Given the description of an element on the screen output the (x, y) to click on. 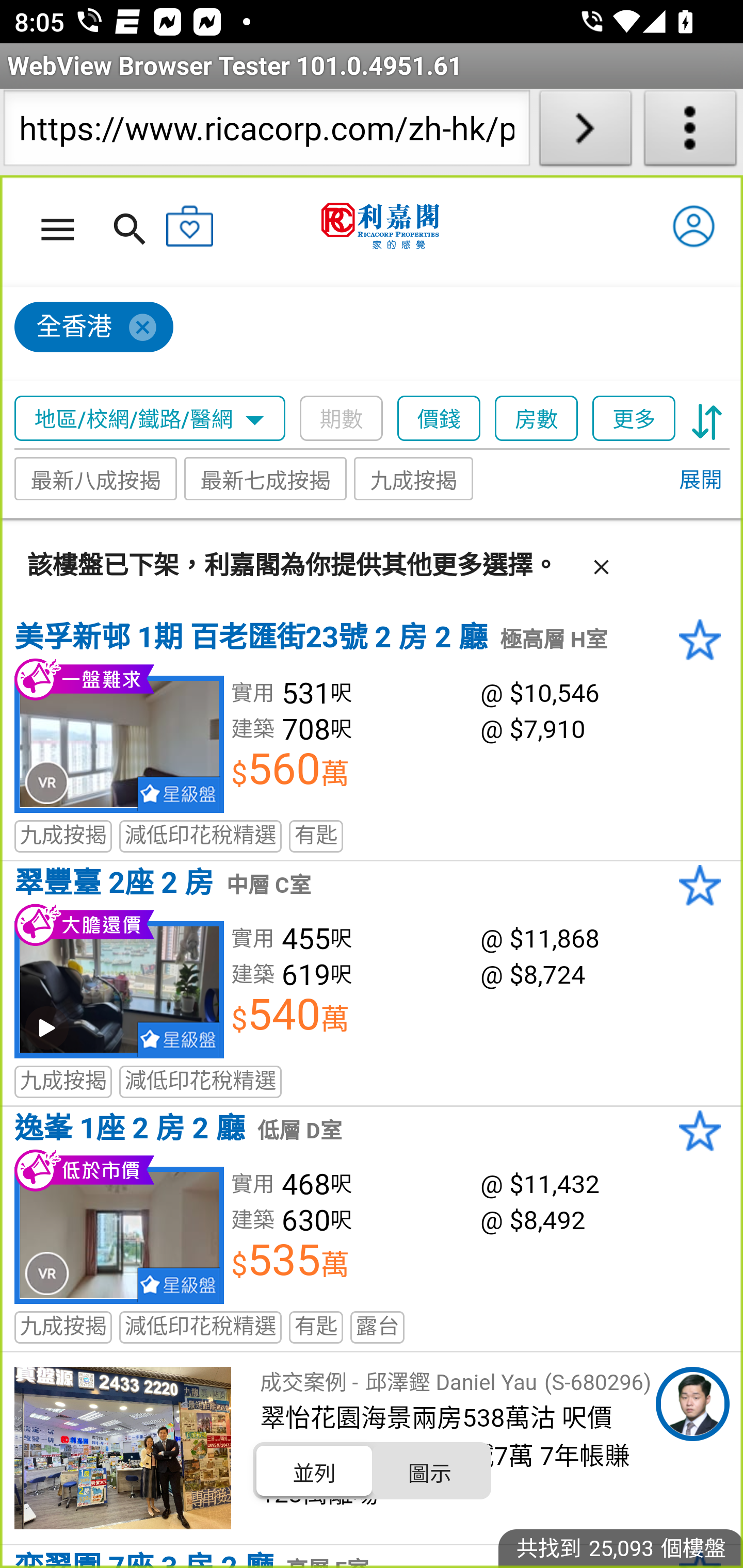
Load URL (585, 132)
About WebView (690, 132)
全香港 (94, 327)
地區/校網/鐵路/醫網 (150, 418)
期數 (341, 418)
價錢 (439, 418)
房數 (536, 418)
更多 (634, 418)
sort (706, 418)
最新八成按揭 (96, 478)
最新七成按揭 (266, 478)
九成按揭 (413, 478)
展開 (699, 481)
clear (600, 563)
Daniel Yau (692, 1404)
並列 (314, 1470)
圖示 (429, 1470)
